Given the description of an element on the screen output the (x, y) to click on. 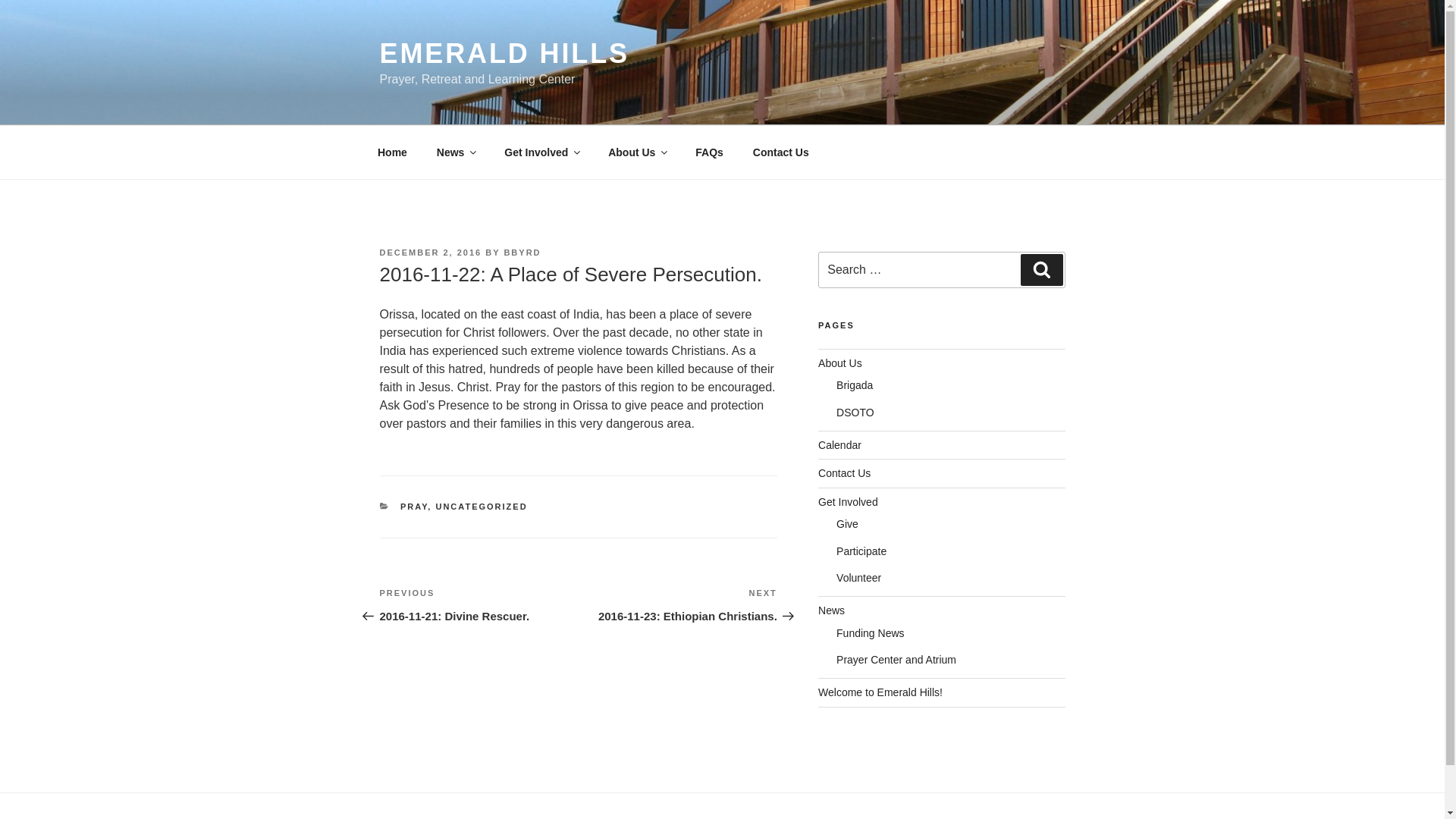
Search (1041, 269)
News (455, 151)
UNCATEGORIZED (481, 506)
Prayer Center and Atrium (895, 659)
Contact Us (780, 151)
Volunteer (857, 577)
Welcome to Emerald Hills! (880, 692)
Home (392, 151)
Home (392, 151)
About Us (637, 151)
